Given the description of an element on the screen output the (x, y) to click on. 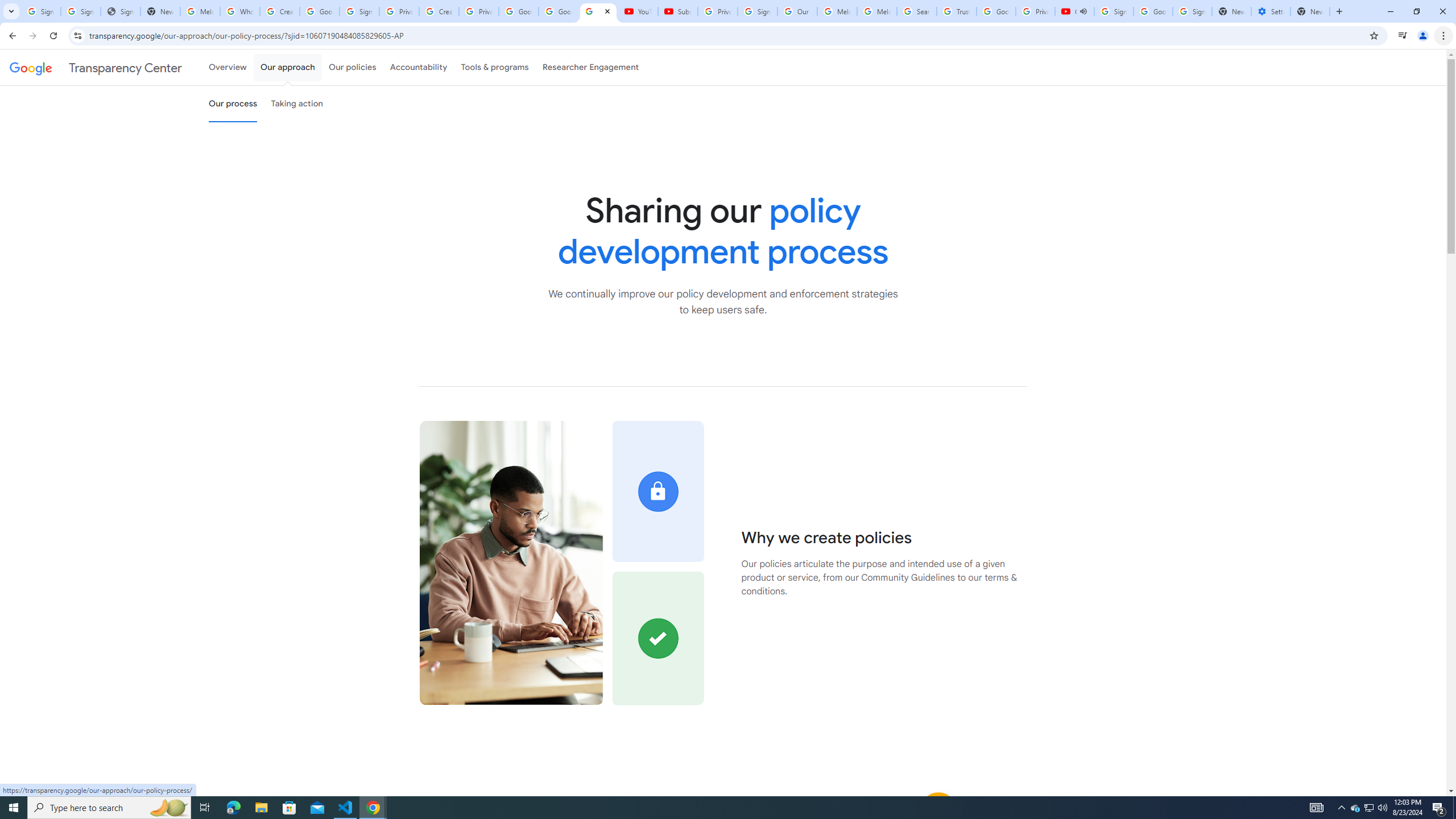
Sign in - Google Accounts (359, 11)
Our approach (287, 67)
Subscriptions - YouTube (677, 11)
Google Cybersecurity Innovations - Google Safety Center (1152, 11)
Taking action (296, 103)
